Given the description of an element on the screen output the (x, y) to click on. 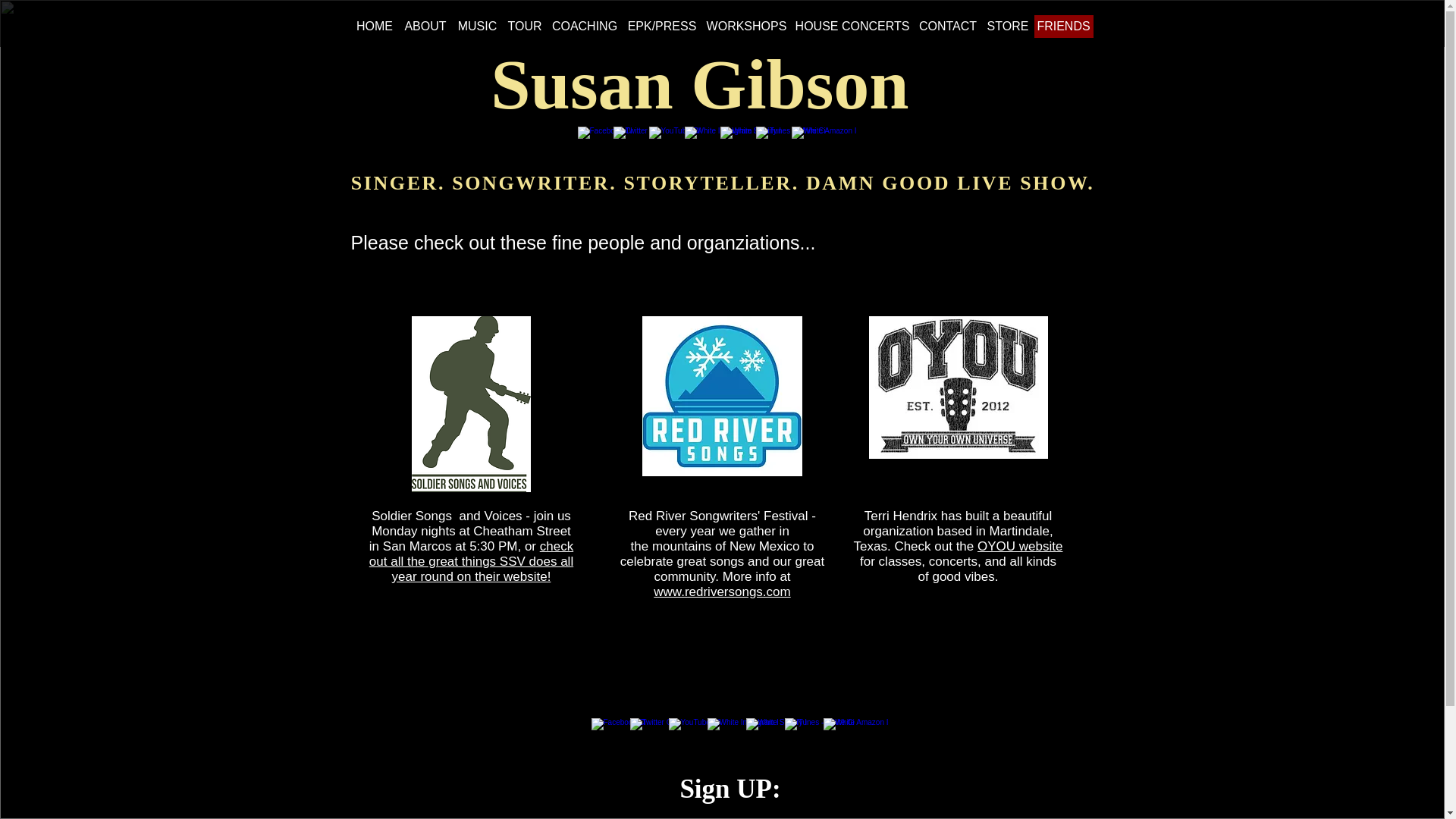
Susan Gibson (699, 84)
WORKSHOPS (745, 26)
HOME (374, 26)
www.redriversongs.com (721, 591)
CONTACT (947, 26)
STORE (1007, 26)
FRIENDS (1063, 26)
COACHING (584, 26)
TOUR (525, 26)
